Given the description of an element on the screen output the (x, y) to click on. 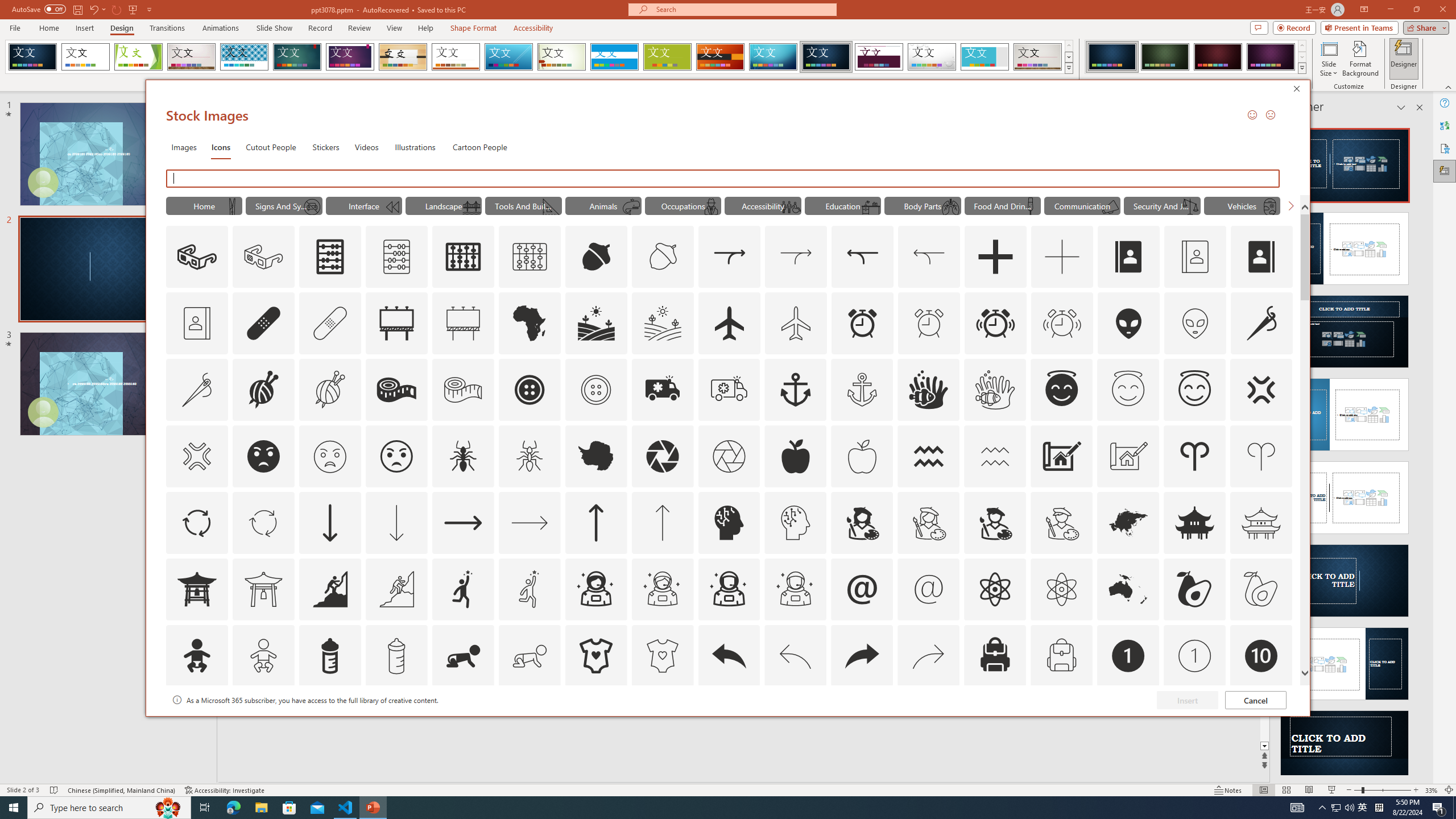
AutomationID: Icons_Badge9 (1194, 721)
AutomationID: Icons_BridgeScene_M (471, 206)
AutomationID: Icons_ArrowCircle_M (263, 522)
Thumbnail (1283, 699)
AutomationID: Icons_AsianTemple (1194, 522)
AutomationID: Icons_AstronautMale_M (795, 588)
